Given the description of an element on the screen output the (x, y) to click on. 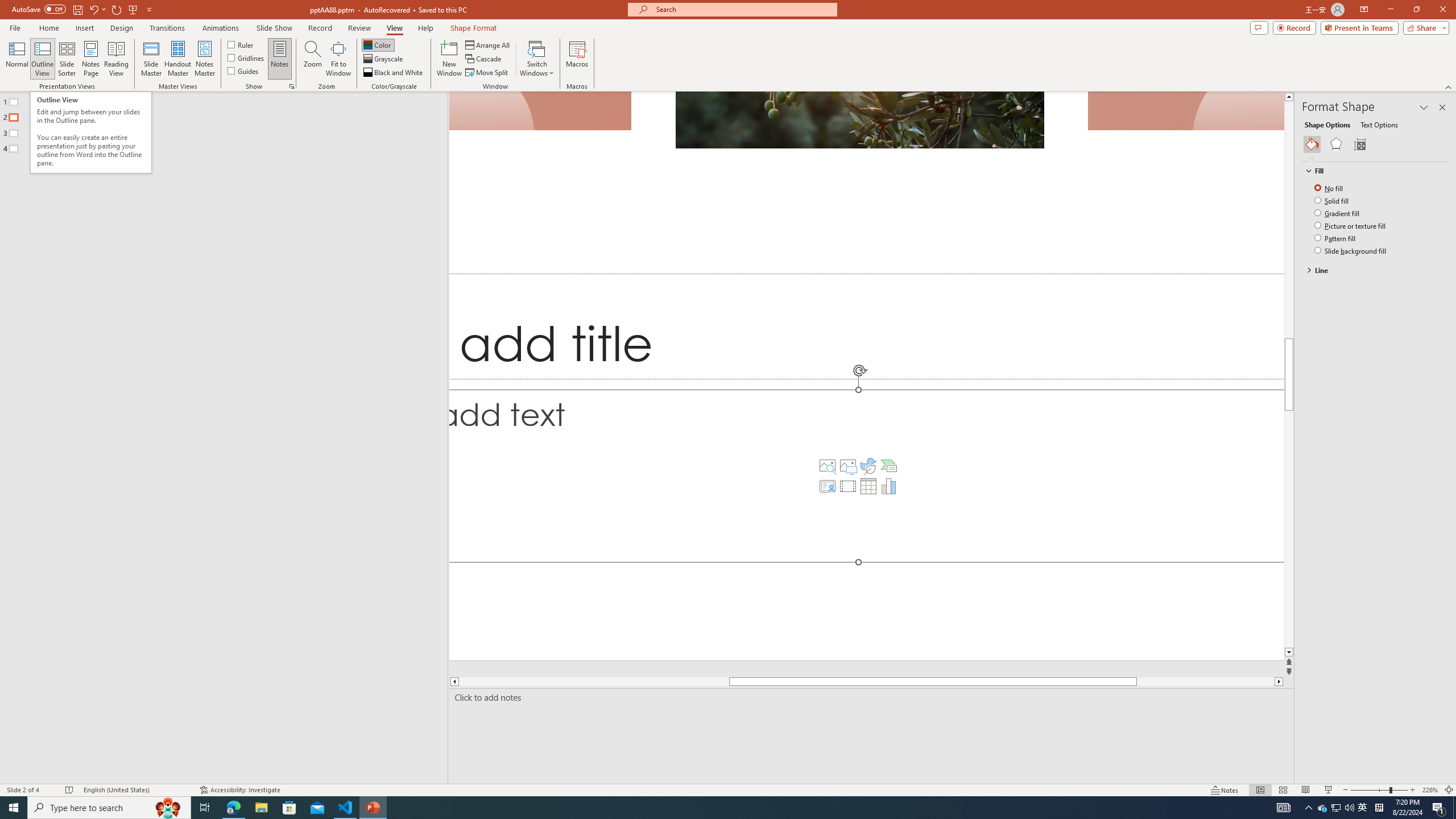
Decorative Locked (866, 375)
Close up of an olive branch on a sunset (859, 119)
Solid fill (1332, 199)
Size & Properties (1359, 144)
Notes Master (204, 58)
